Given the description of an element on the screen output the (x, y) to click on. 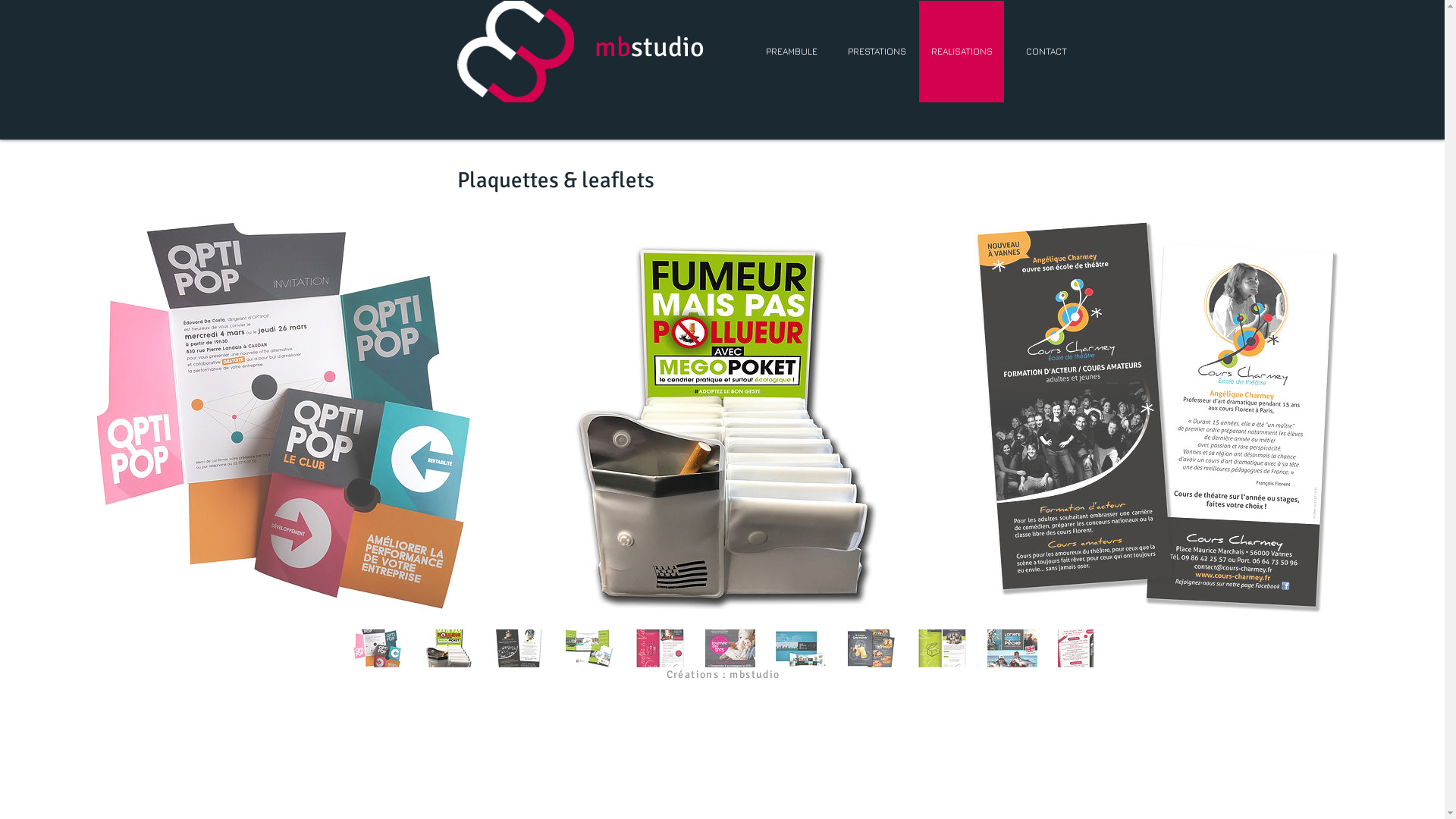
MB_seul2.png Element type: hover (514, 51)
CONTACT Element type: text (1046, 51)
mbstudio Element type: text (649, 47)
REALISATIONS Element type: text (961, 51)
PRESTATIONS Element type: text (876, 51)
PREAMBULE Element type: text (791, 51)
